Given the description of an element on the screen output the (x, y) to click on. 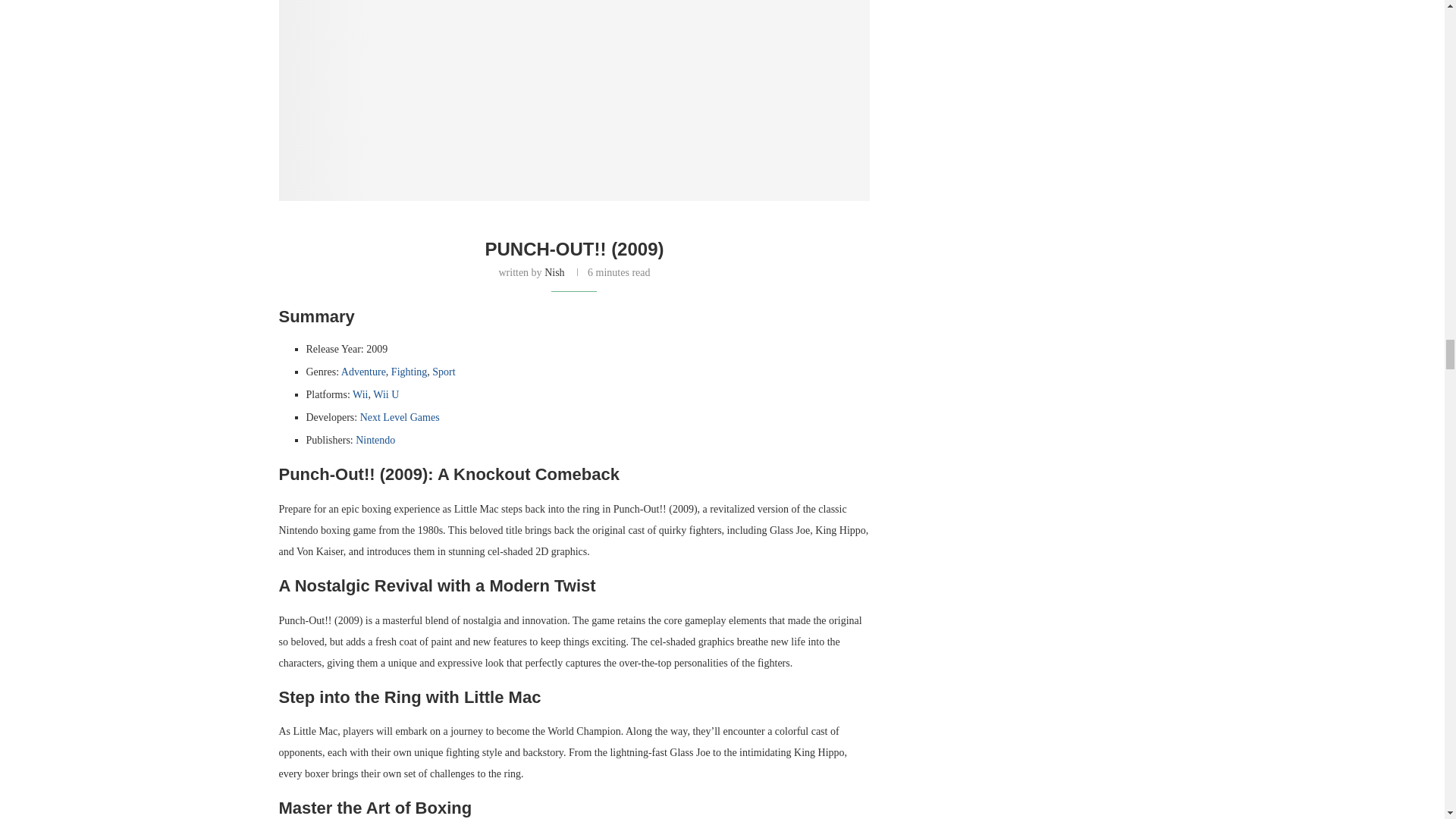
Cover: Punch-Out!! (574, 100)
